Given the description of an element on the screen output the (x, y) to click on. 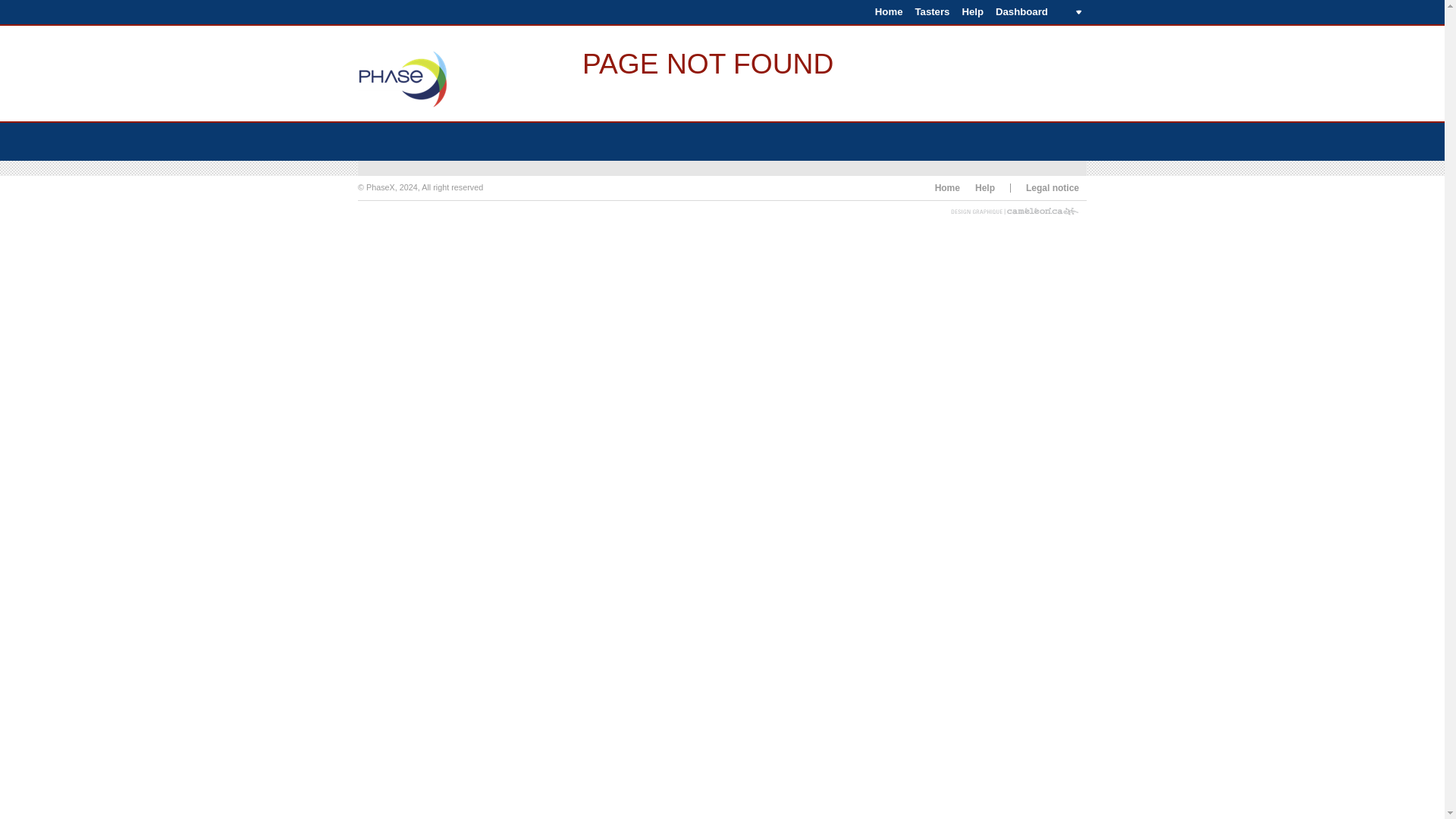
Legal notice (1052, 187)
Home (946, 187)
Help (984, 187)
Tasters (931, 12)
Dashboard (1038, 12)
Home (888, 12)
Help (972, 12)
